Given the description of an element on the screen output the (x, y) to click on. 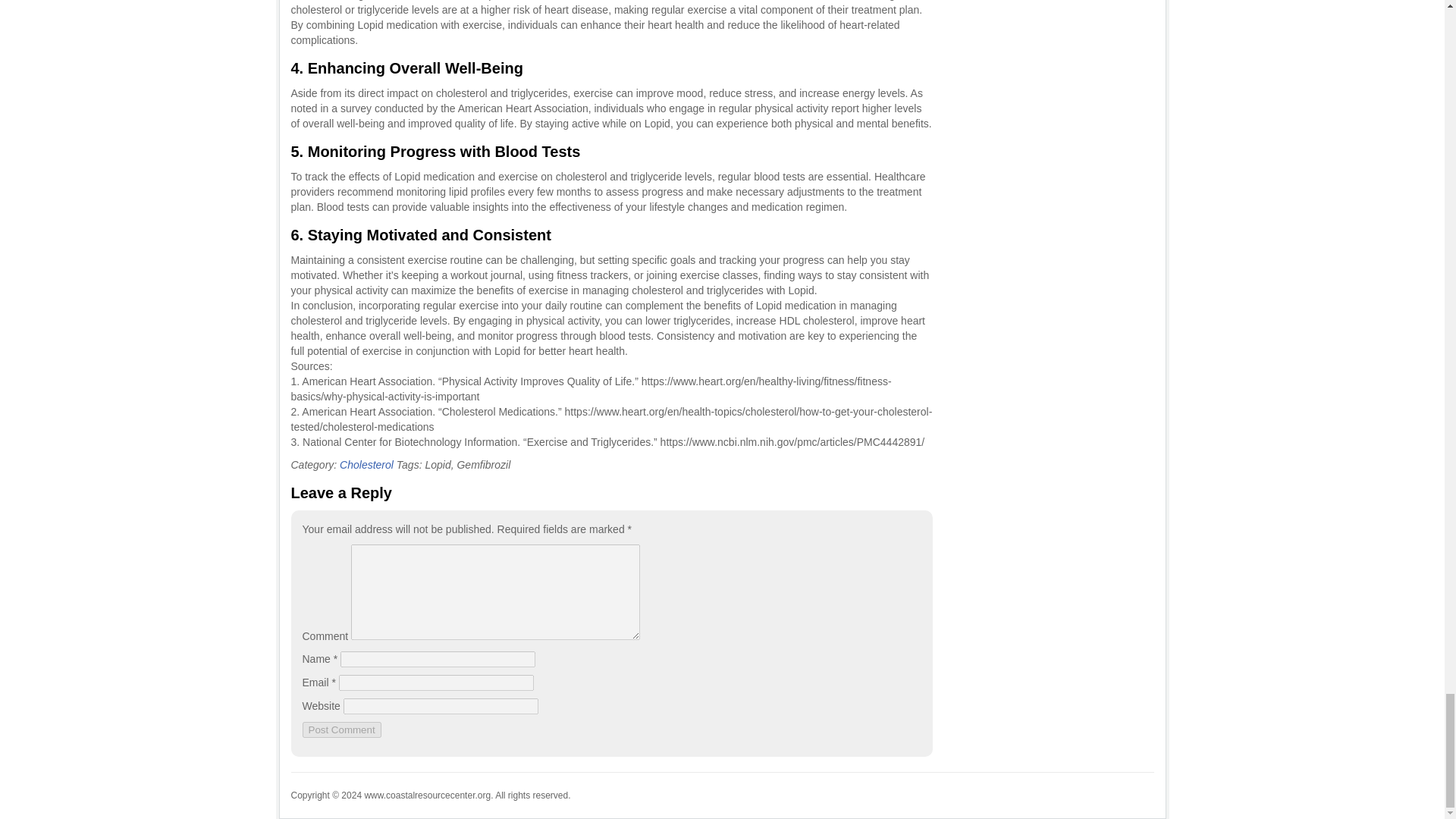
Post Comment (340, 729)
Cholesterol (366, 464)
Post Comment (340, 729)
